Given the description of an element on the screen output the (x, y) to click on. 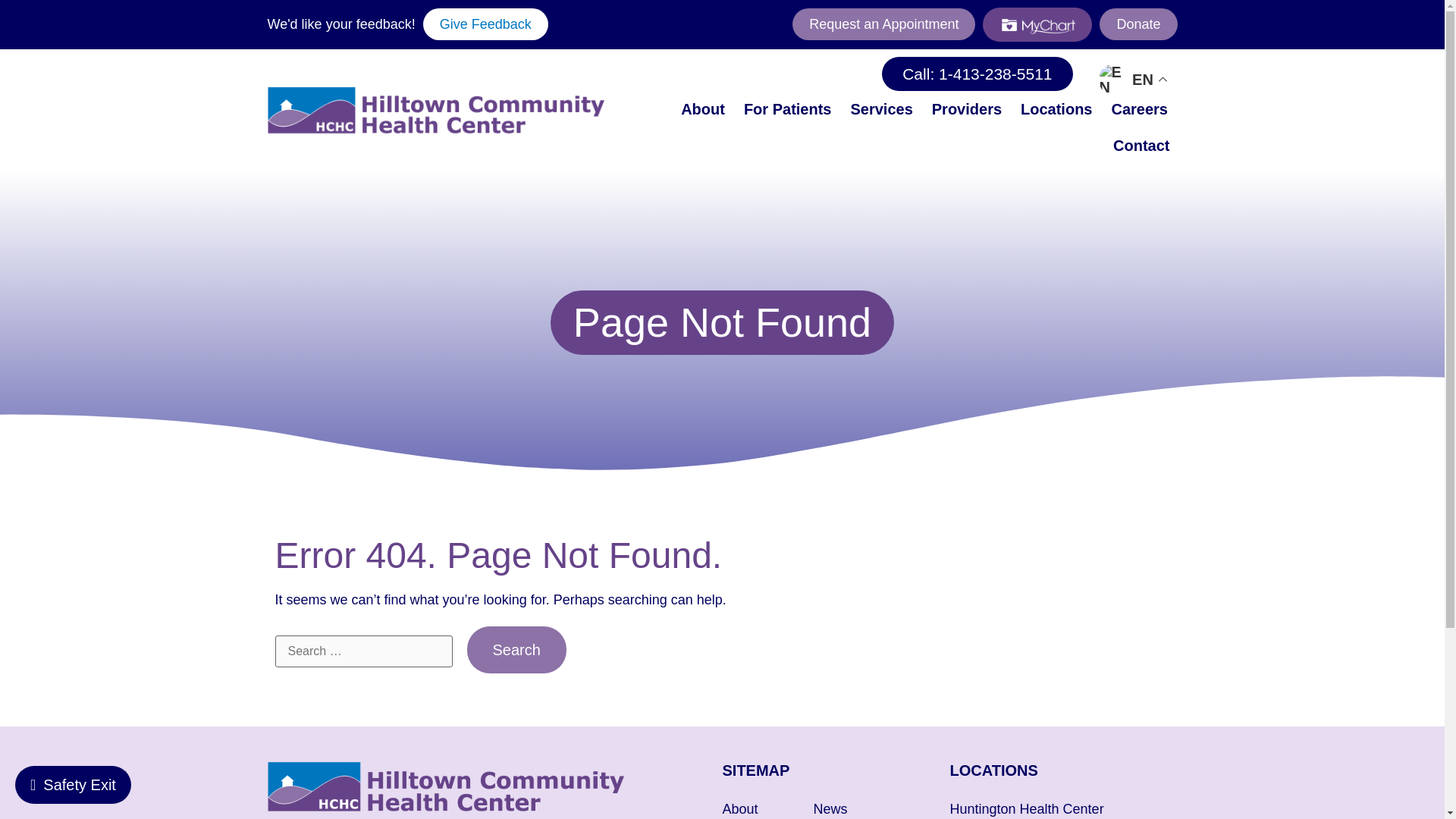
Give Feedback (485, 24)
Request an Appointment (883, 24)
Donate (1137, 24)
Search (516, 649)
About (702, 108)
For Patients (788, 108)
Search (516, 649)
Safety Exit (72, 784)
Call: 1-413-238-5511 (976, 73)
